Given the description of an element on the screen output the (x, y) to click on. 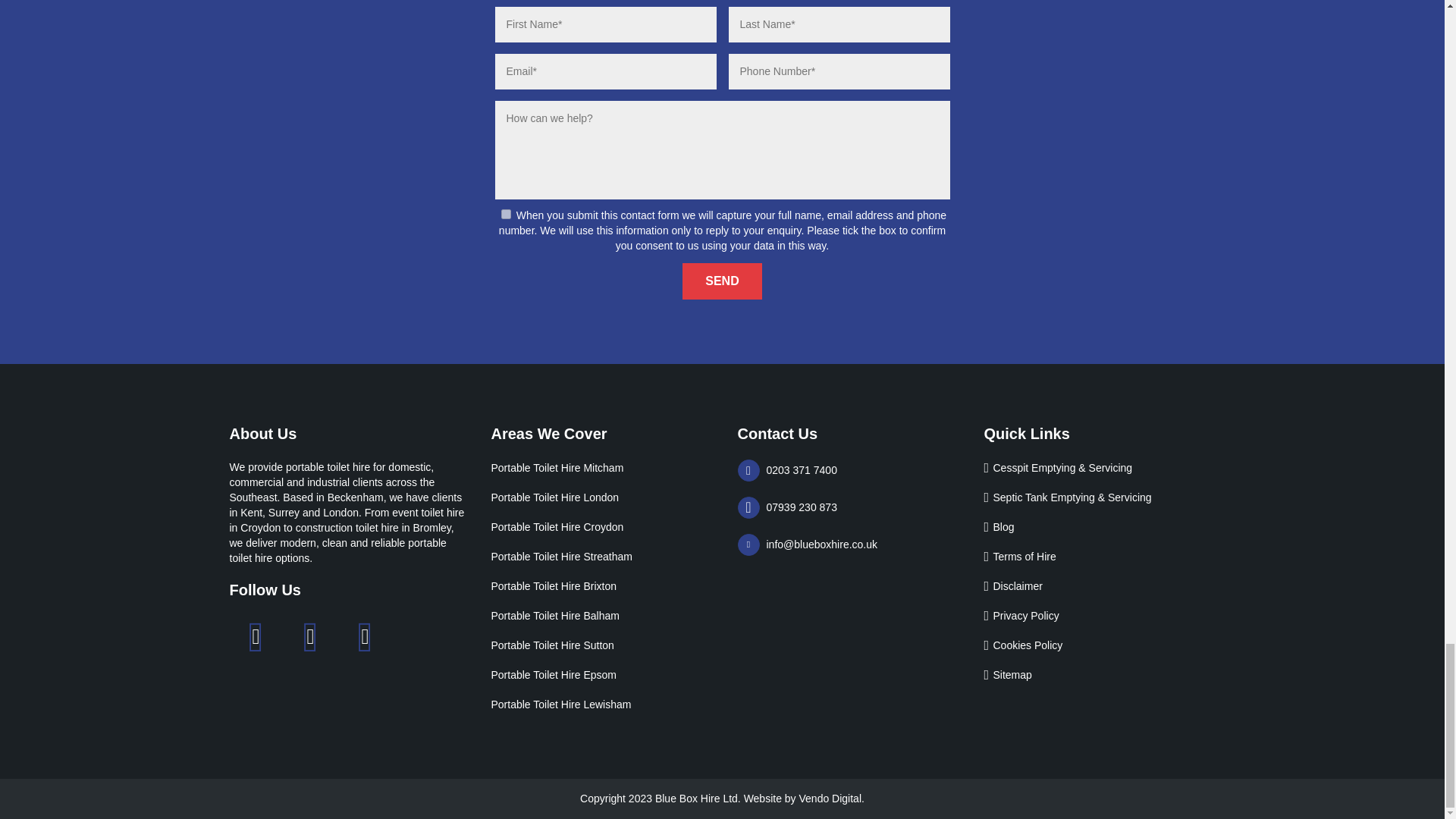
1 (505, 214)
Send (721, 280)
